Given the description of an element on the screen output the (x, y) to click on. 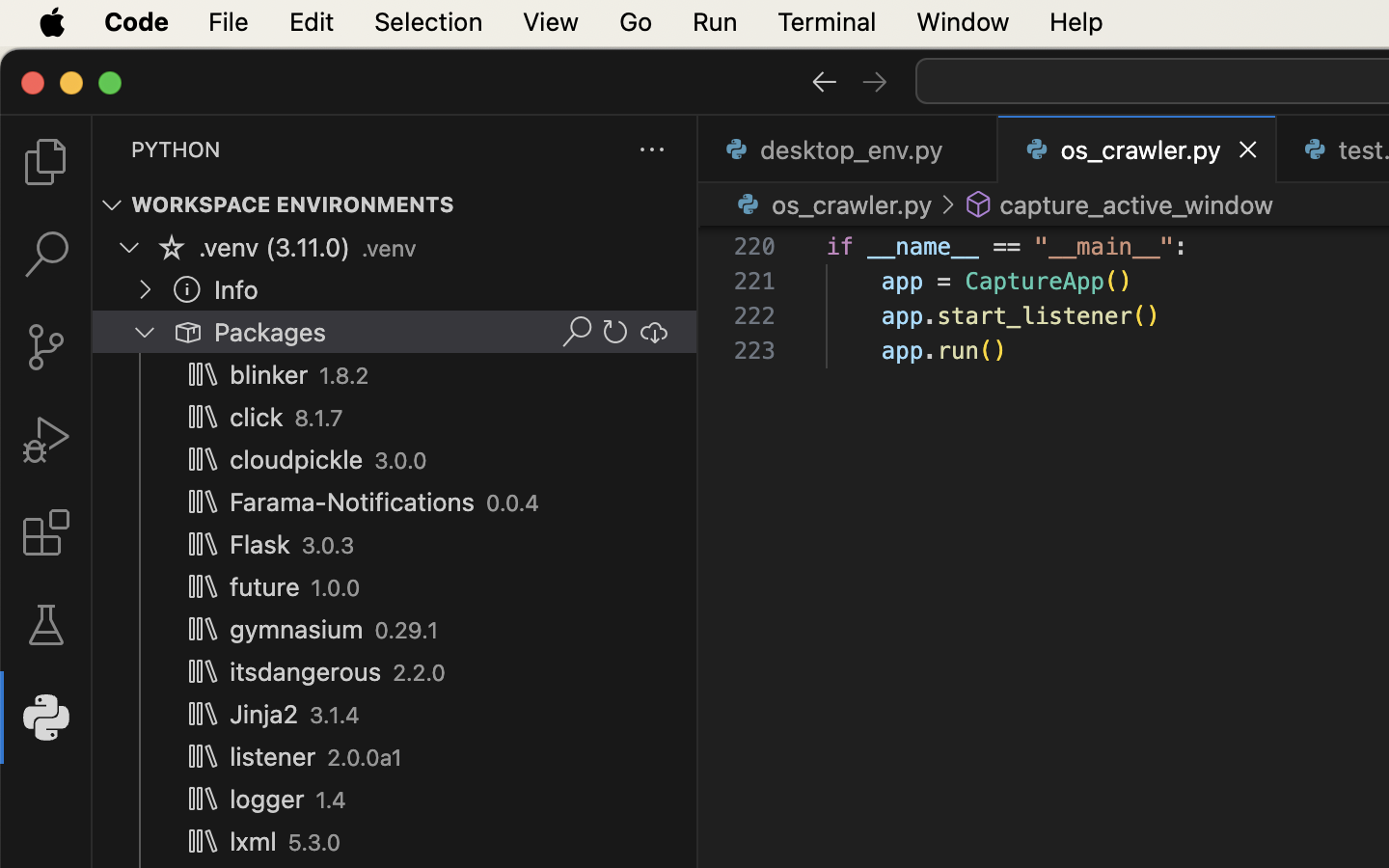
8.1.7 Element type: AXStaticText (319, 418)
itsdangerous Element type: AXStaticText (305, 671)
Flask Element type: AXStaticText (260, 544)
 Element type: AXStaticText (111, 204)
blinker Element type: AXStaticText (268, 374)
